Given the description of an element on the screen output the (x, y) to click on. 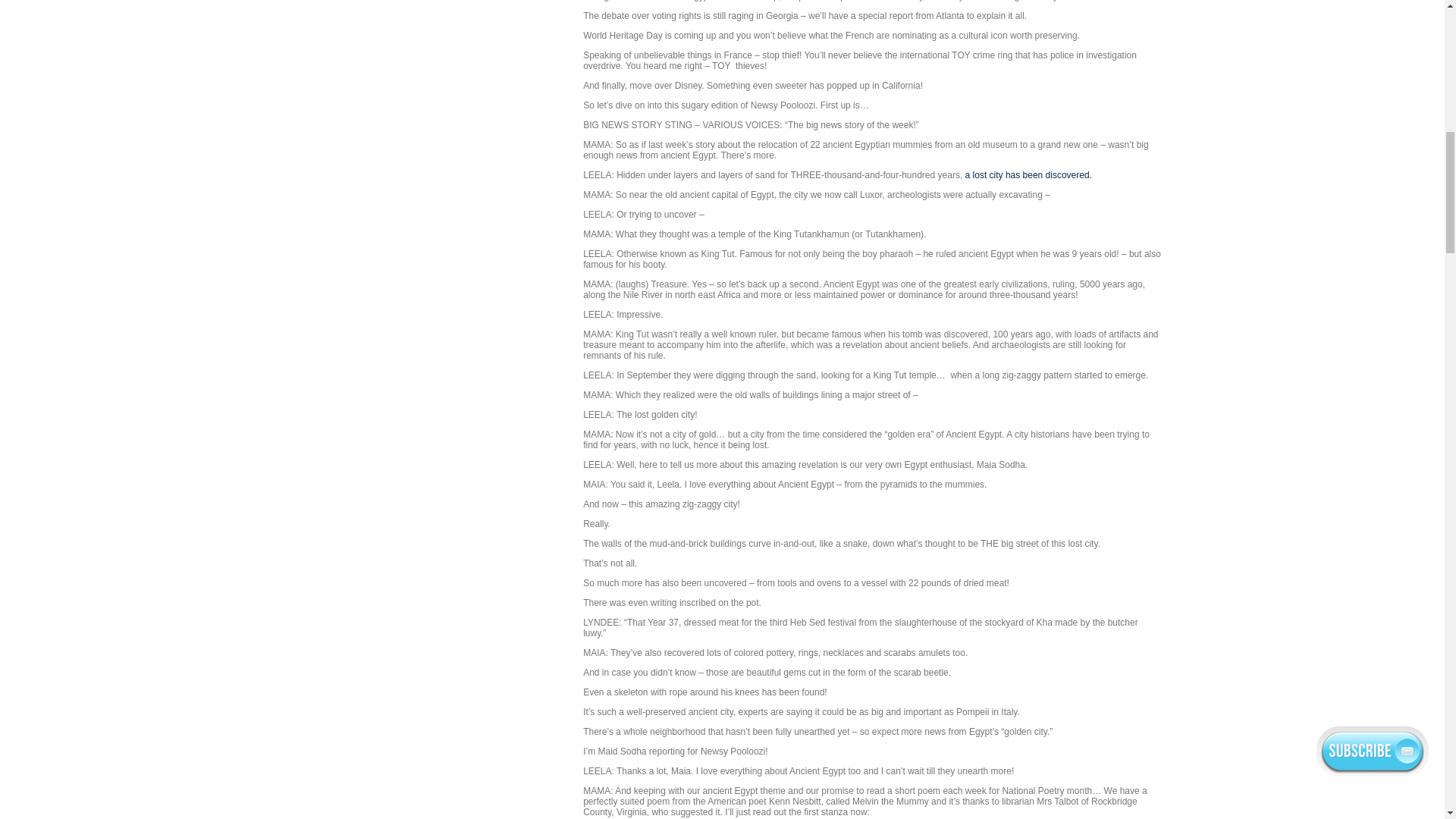
a lost city has been discovered. (1028, 174)
